Given the description of an element on the screen output the (x, y) to click on. 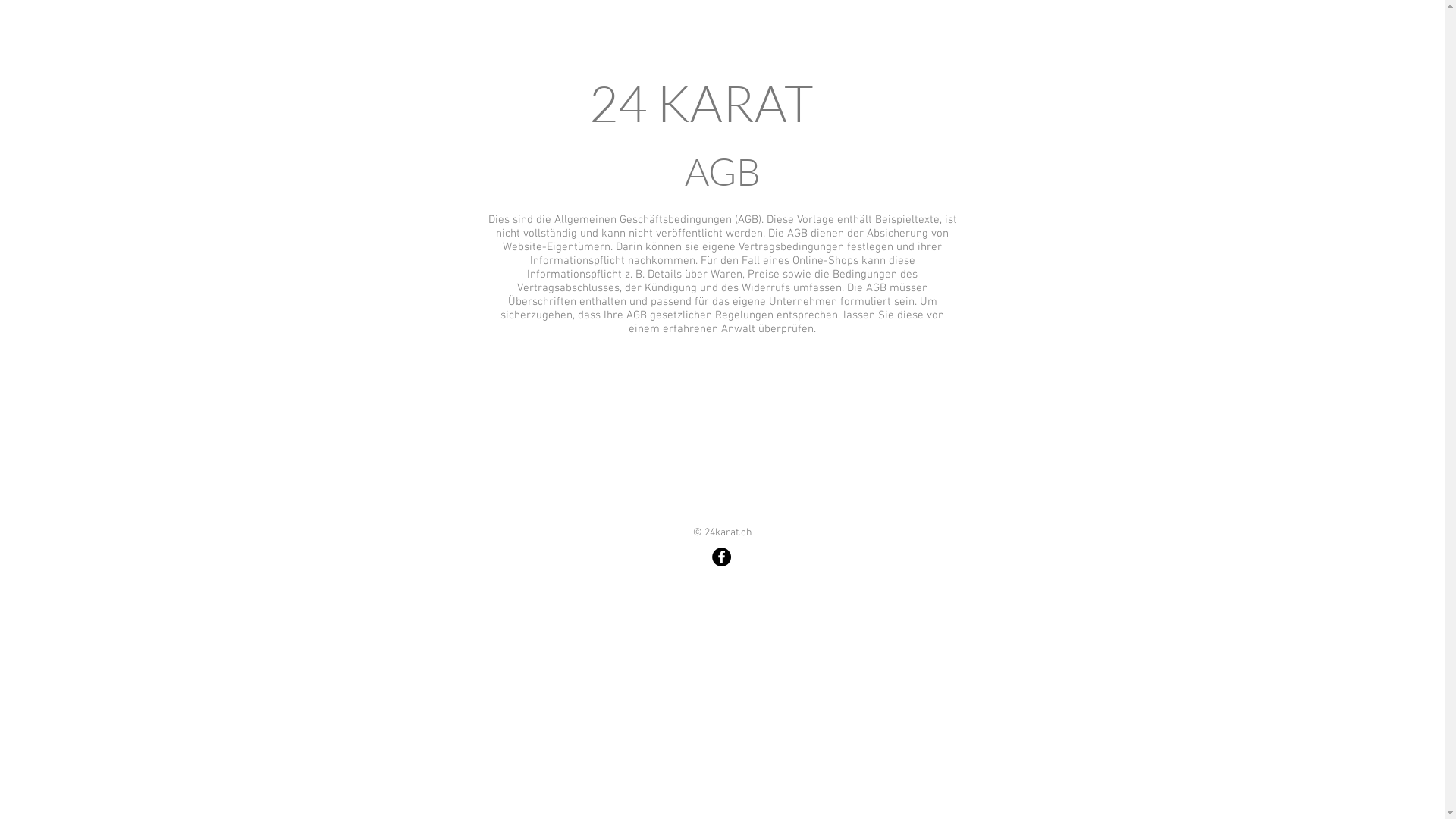
24 KARAT Element type: text (701, 102)
